Given the description of an element on the screen output the (x, y) to click on. 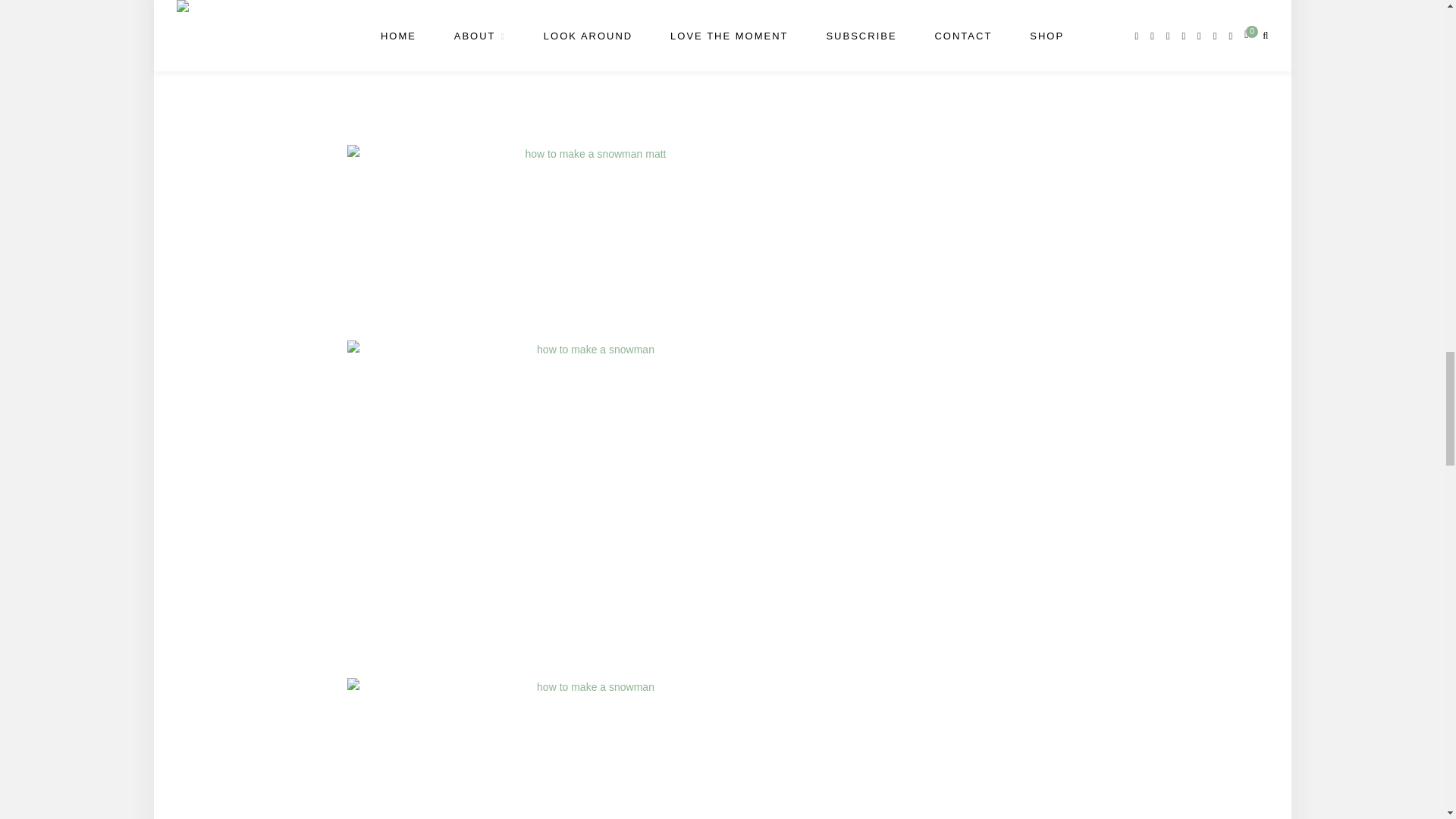
how to make a snowman (589, 748)
How to make a snowman (589, 64)
how to make a snowman matt (589, 234)
